Given the description of an element on the screen output the (x, y) to click on. 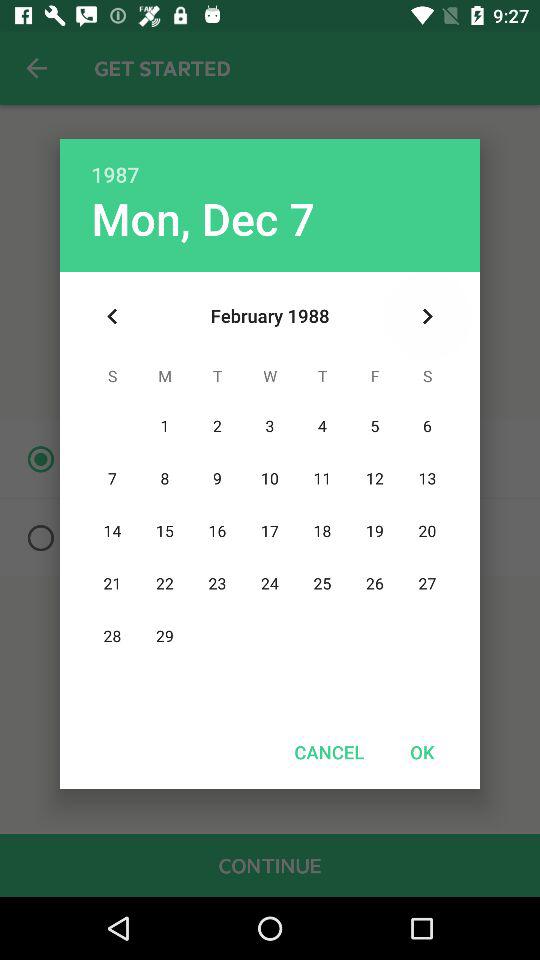
open the item next to ok item (329, 751)
